Given the description of an element on the screen output the (x, y) to click on. 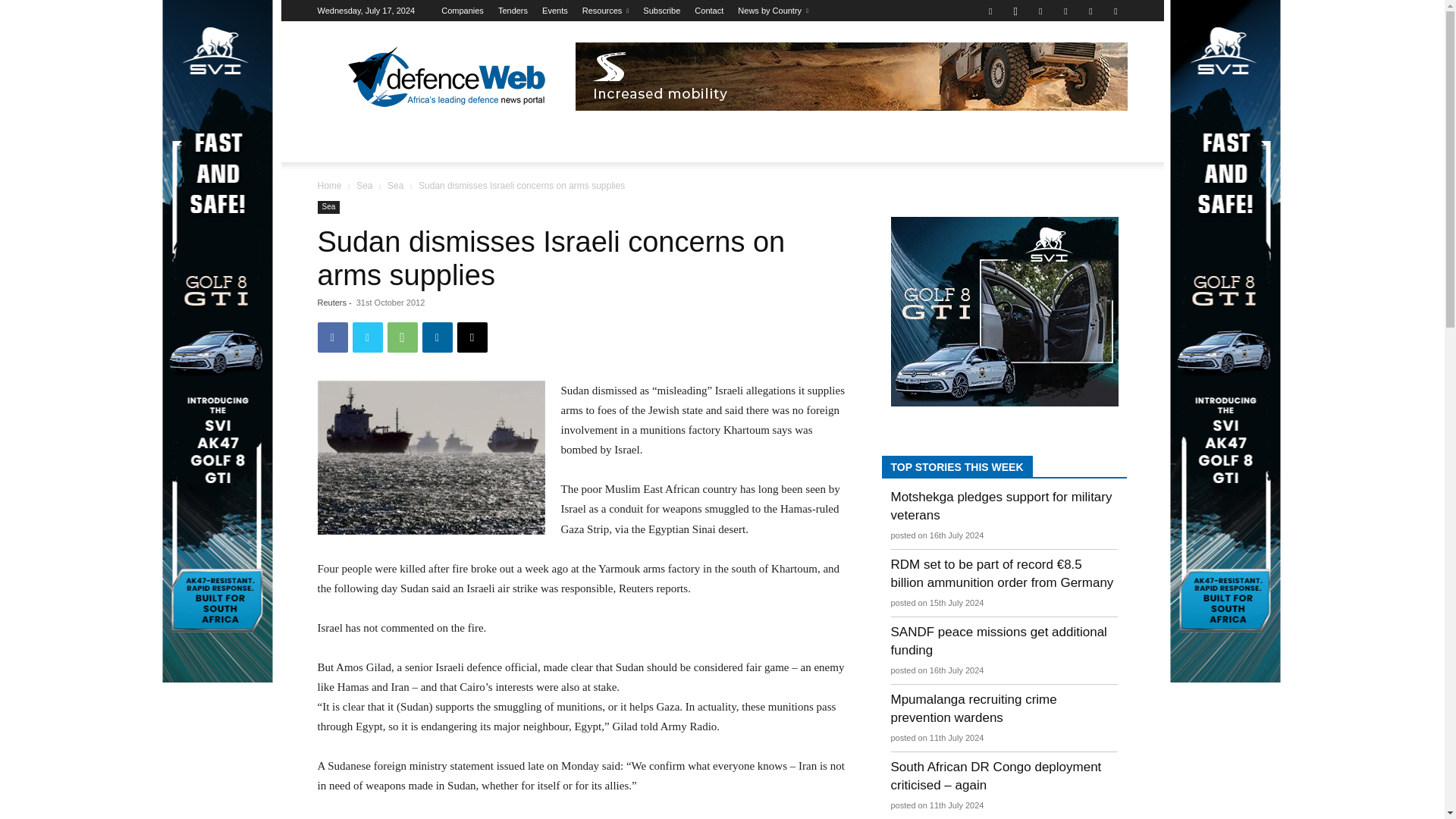
Youtube (1114, 10)
Twitter (1090, 10)
Facebook (989, 10)
Linkedin (1040, 10)
Instagram (1015, 10)
Mail (1065, 10)
